Given the description of an element on the screen output the (x, y) to click on. 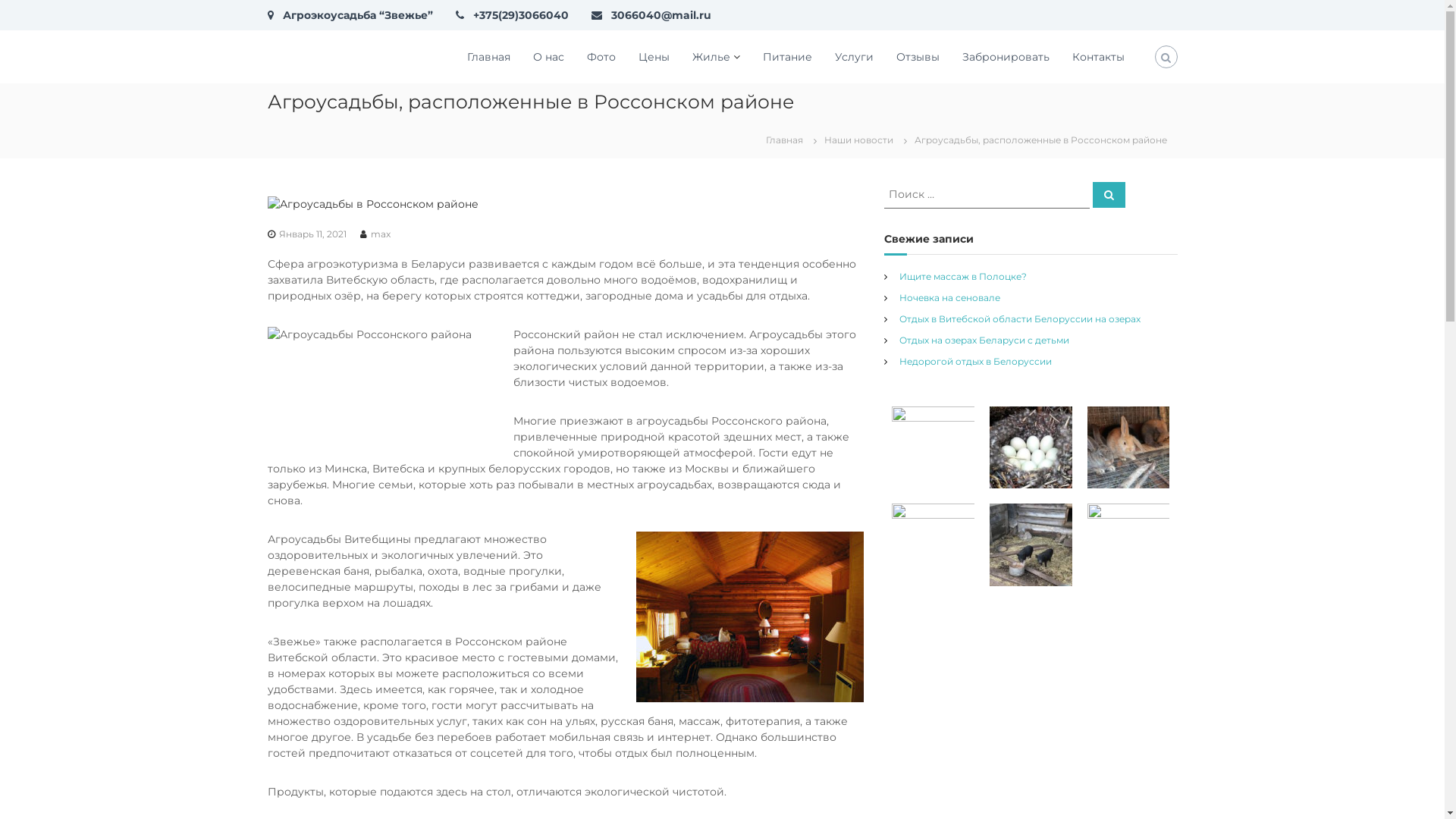
max Element type: text (379, 233)
